Given the description of an element on the screen output the (x, y) to click on. 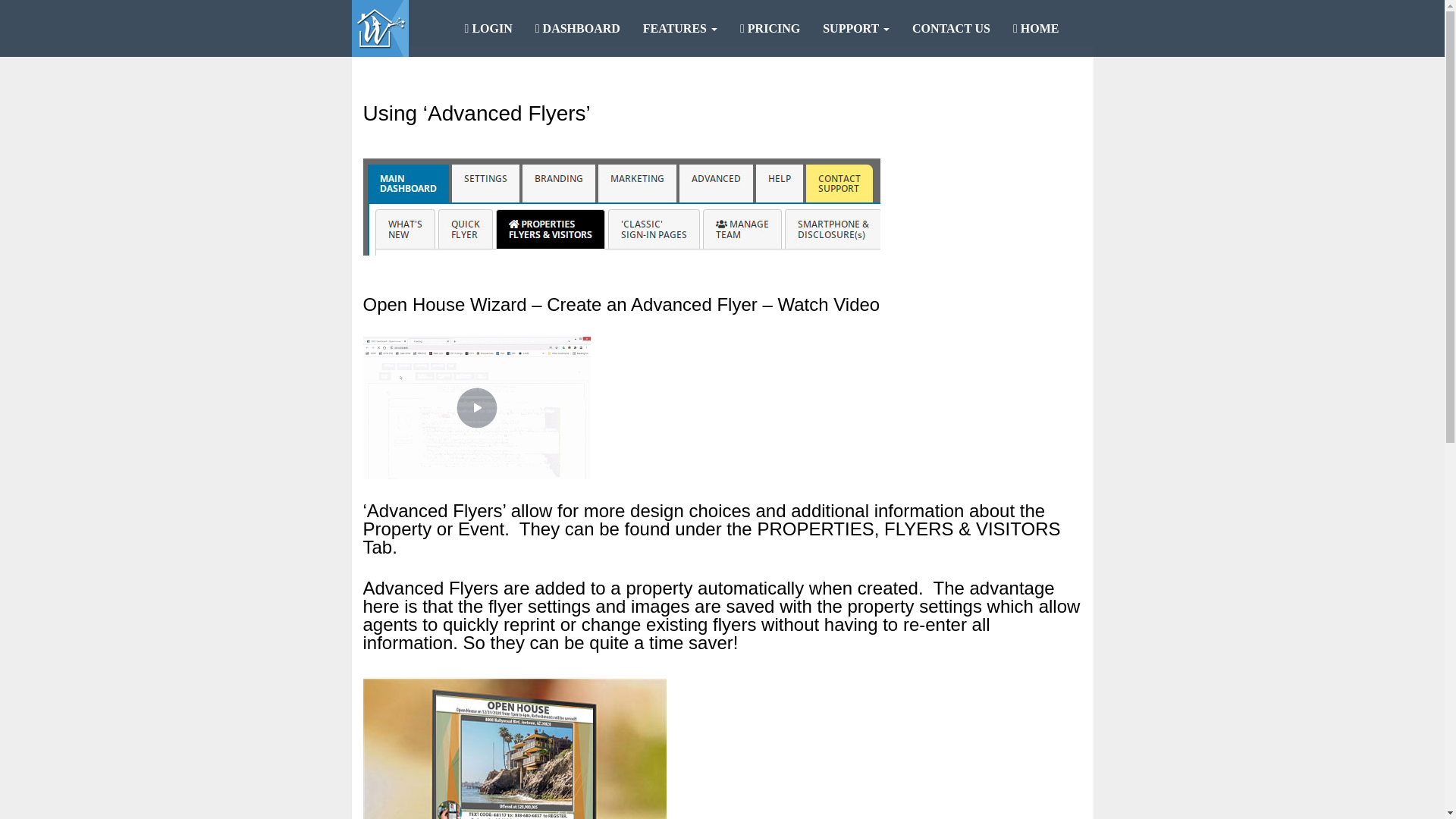
Features (680, 28)
CONTACT US (951, 28)
LOGIN (488, 28)
FEATURES (680, 28)
Contact Us (951, 28)
HOME (1035, 28)
SUPPORT (855, 28)
PRICING (769, 28)
SUPPORT (855, 28)
DASHBOARD (577, 28)
Open House Wizard (380, 28)
